Given the description of an element on the screen output the (x, y) to click on. 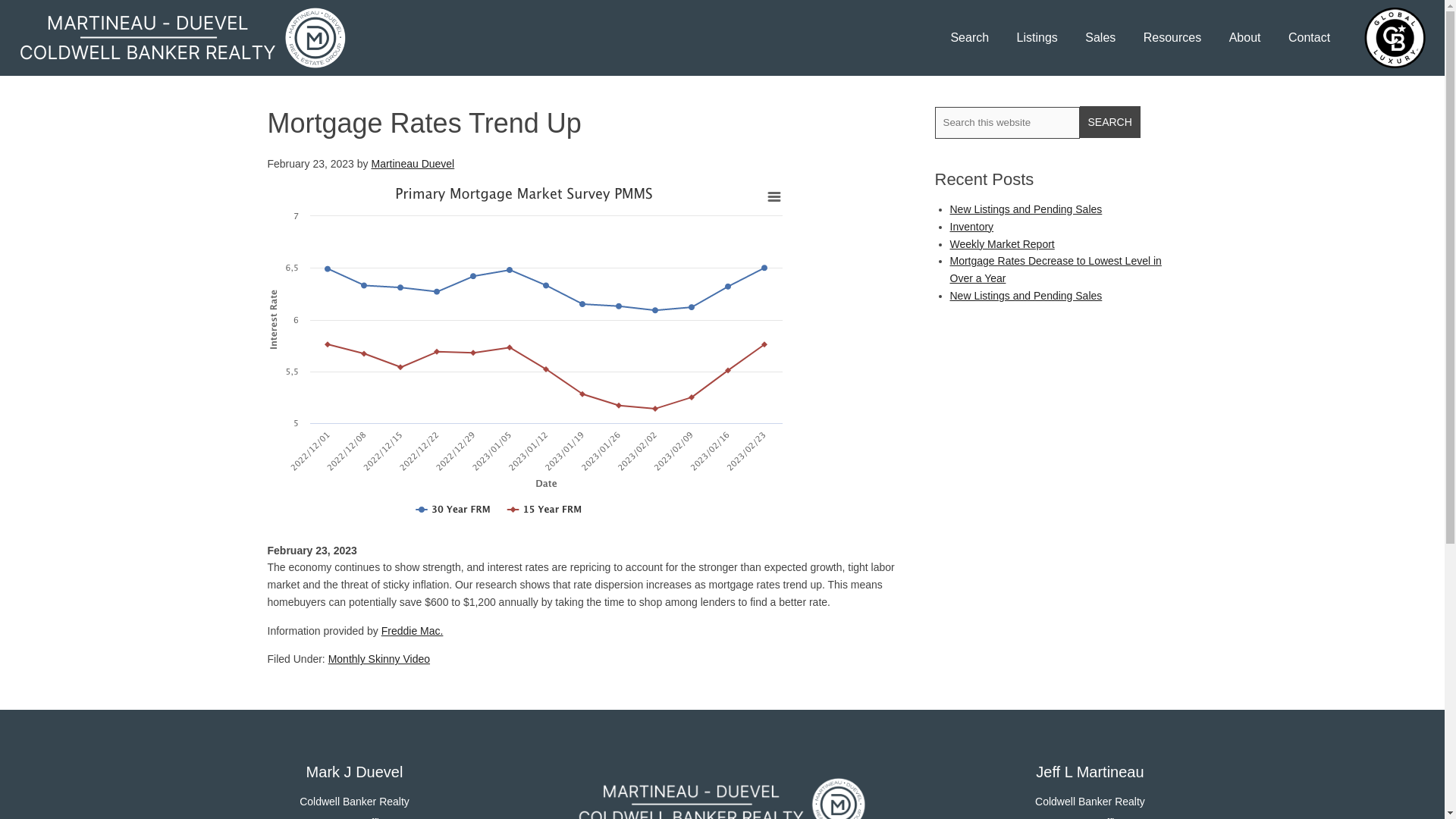
Resources (1171, 37)
Inventory (970, 226)
Sales (1099, 37)
Search (1110, 122)
About (1244, 37)
New Listings and Pending Sales (1025, 209)
Weekly Market Report (1001, 244)
Search (1110, 122)
New Listings and Pending Sales (1025, 295)
Monthly Skinny Video (379, 658)
